Given the description of an element on the screen output the (x, y) to click on. 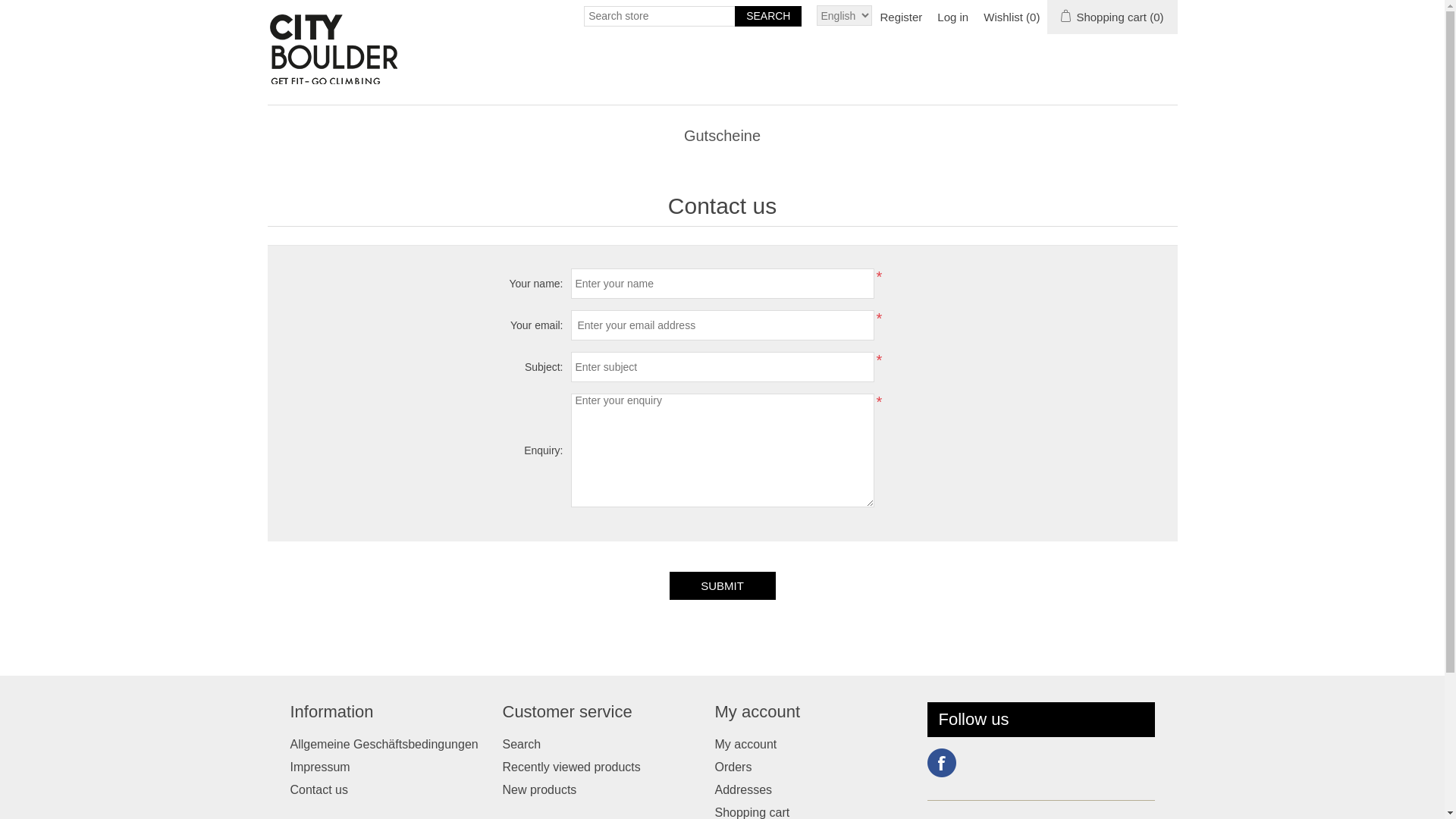
My account Element type: text (745, 743)
Gutscheine Element type: text (722, 135)
Impressum Element type: text (319, 766)
Addresses Element type: text (742, 789)
New products Element type: text (539, 789)
Submit Element type: text (721, 585)
Facebook Element type: text (940, 762)
Search Element type: text (767, 16)
Recently viewed products Element type: text (571, 766)
n-tree Webshop Element type: hover (340, 44)
Shopping cart (0) Element type: text (1111, 17)
Wishlist (0) Element type: text (1011, 17)
Orders Element type: text (732, 766)
Contact us Element type: text (318, 789)
Register Element type: text (900, 17)
Log in Element type: text (952, 17)
Search Element type: text (521, 743)
